Given the description of an element on the screen output the (x, y) to click on. 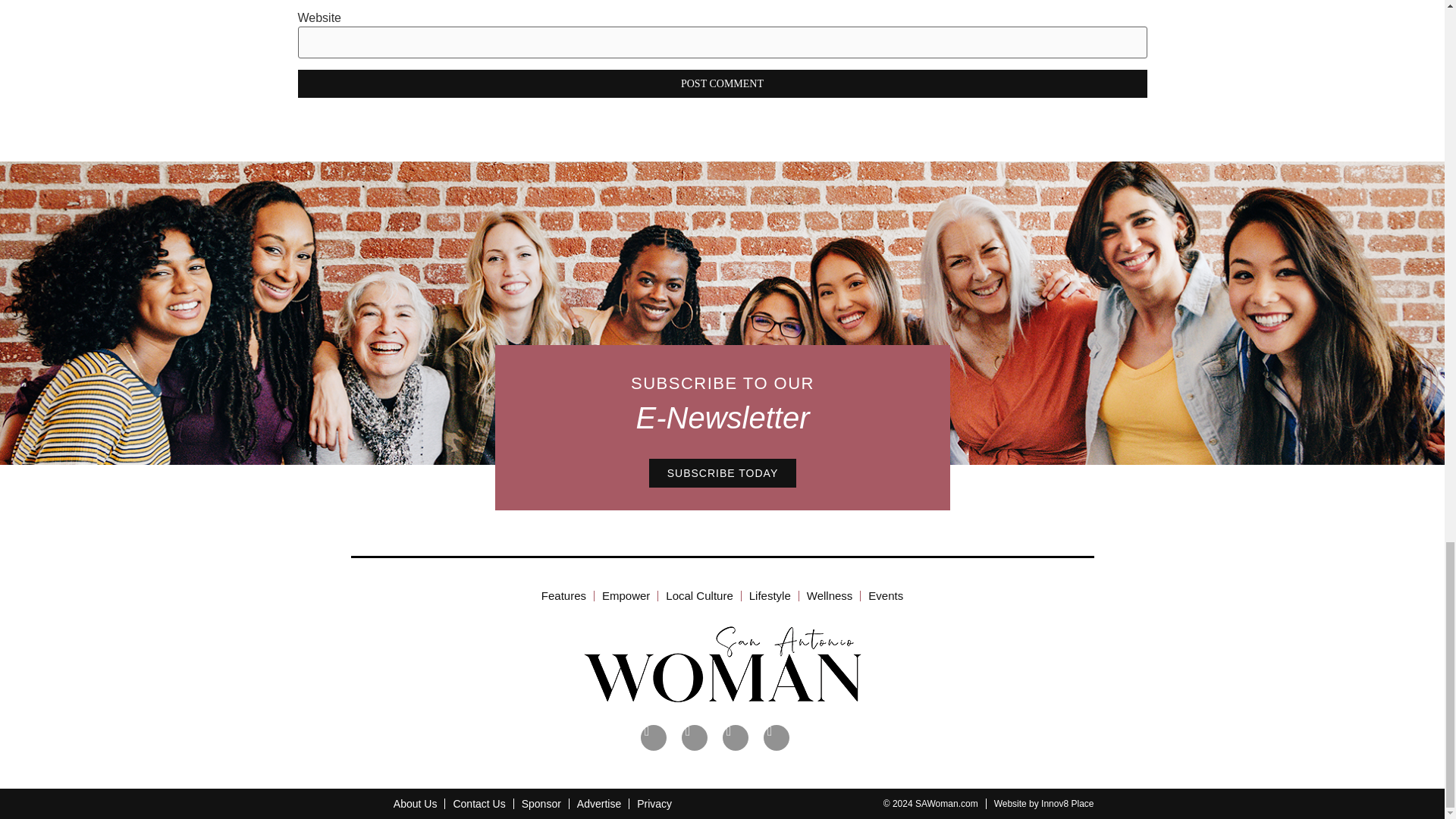
Post Comment (722, 83)
